Given the description of an element on the screen output the (x, y) to click on. 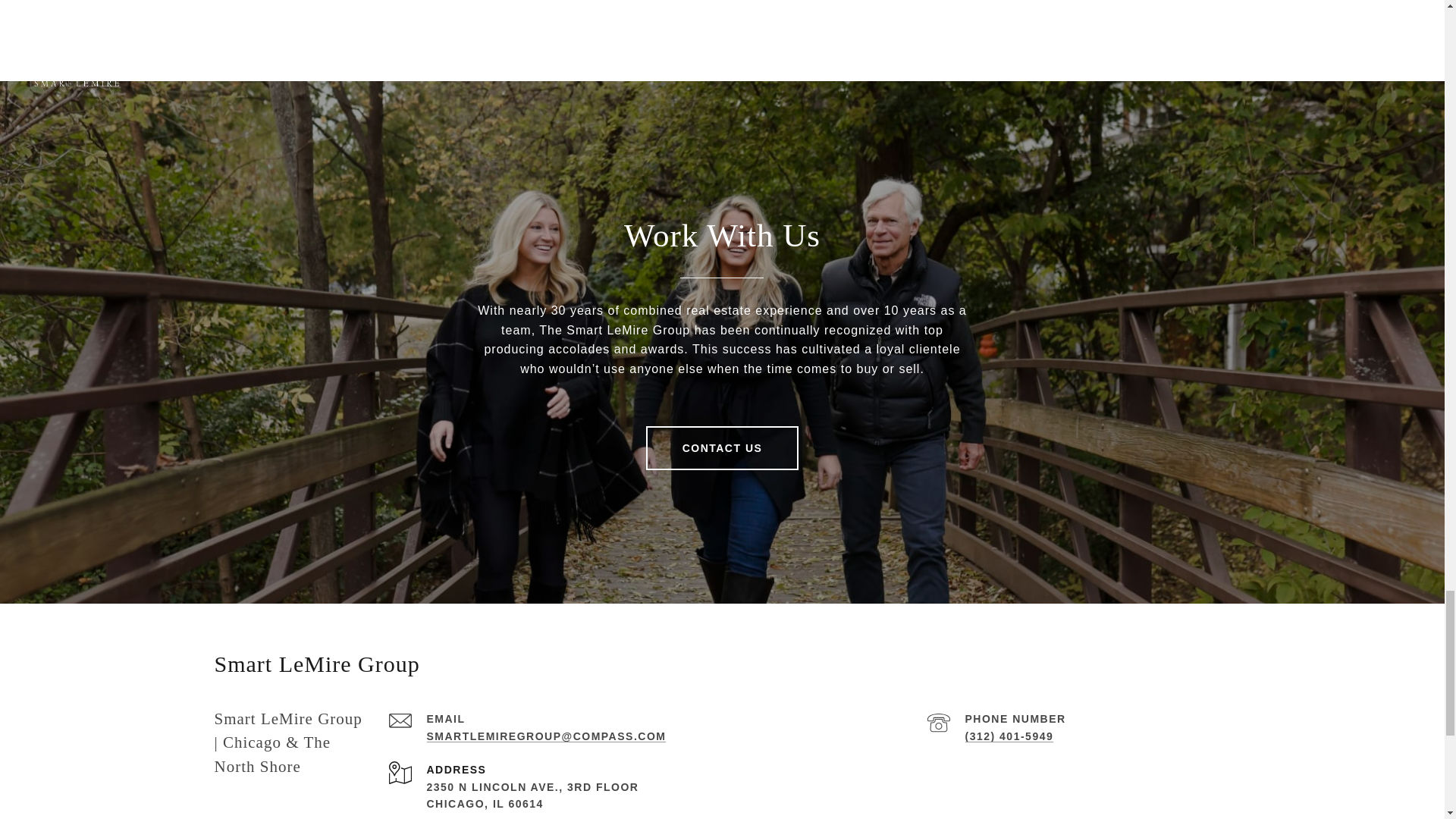
CONTACT US (722, 447)
